Given the description of an element on the screen output the (x, y) to click on. 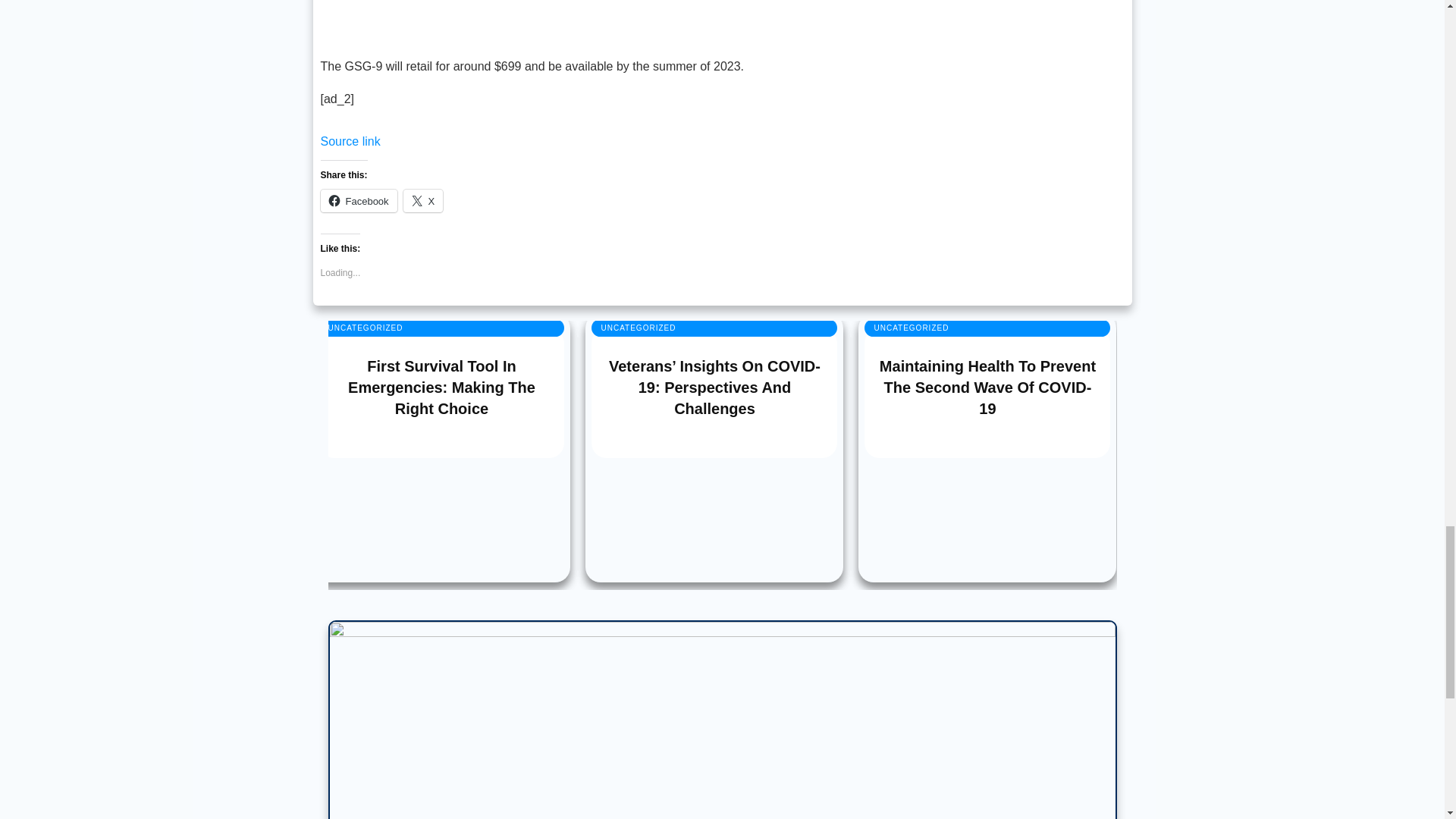
Facebook (358, 200)
Click to share on X (423, 200)
Maintaining Health To Prevent The Second Wave Of COVID-19 (987, 386)
Click to share on Facebook (358, 200)
First Survival Tool In Emergencies: Making The Right Choice (441, 386)
Source link (350, 141)
X (423, 200)
